Given the description of an element on the screen output the (x, y) to click on. 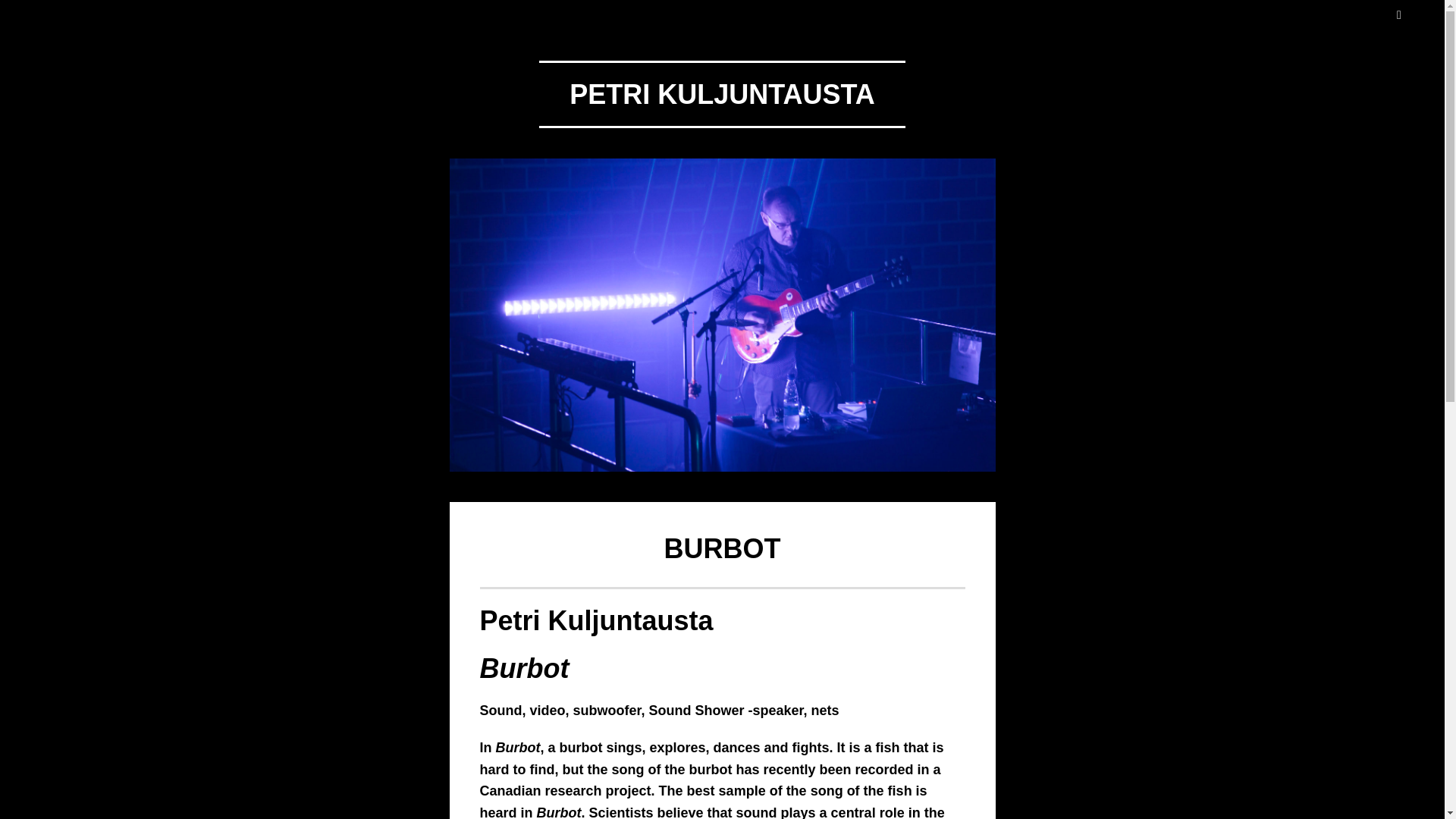
PETRI KULJUNTAUSTA (722, 93)
SKIP TO CONTENT (7, 7)
